Given the description of an element on the screen output the (x, y) to click on. 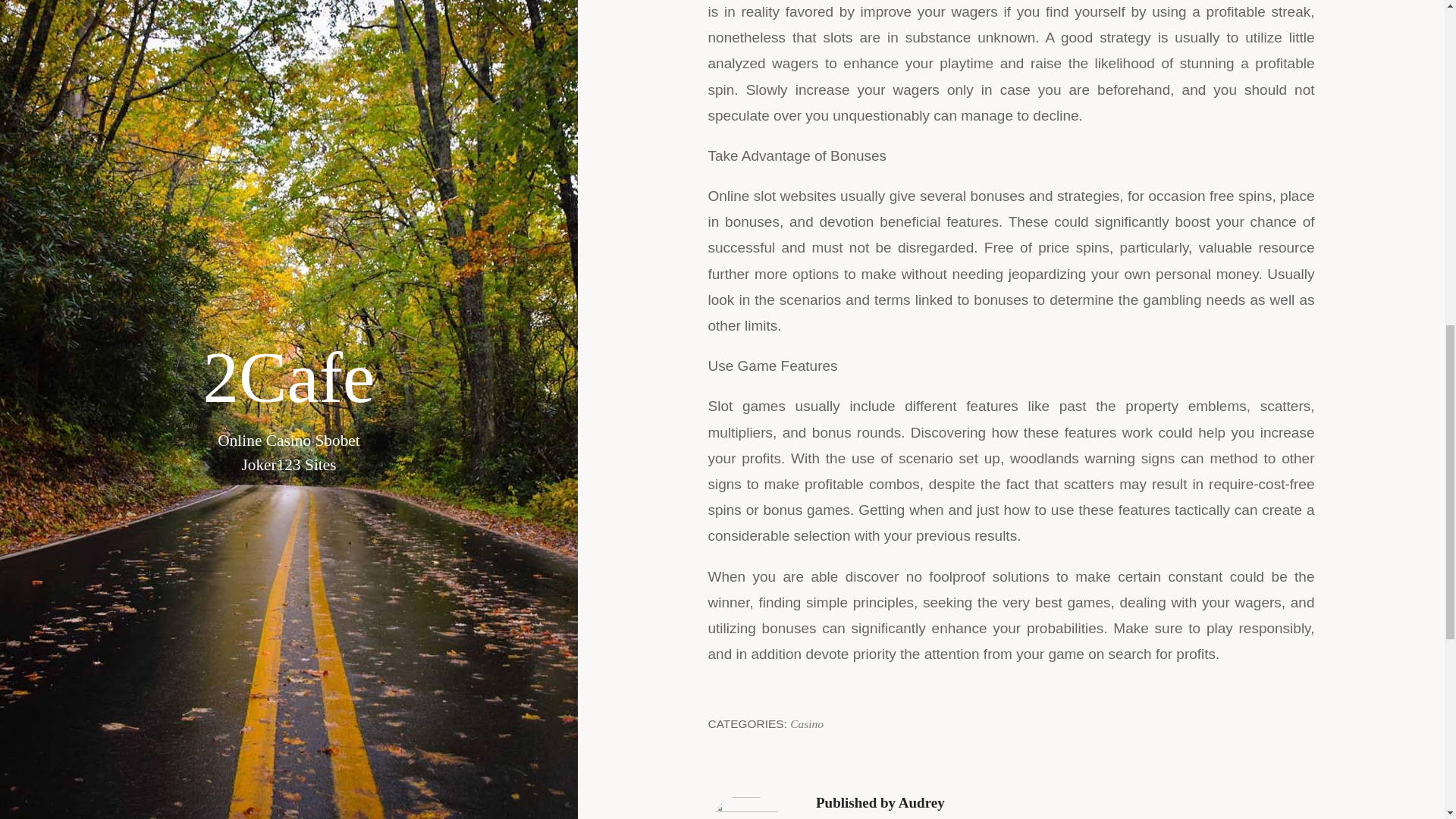
Casino (807, 723)
